Given the description of an element on the screen output the (x, y) to click on. 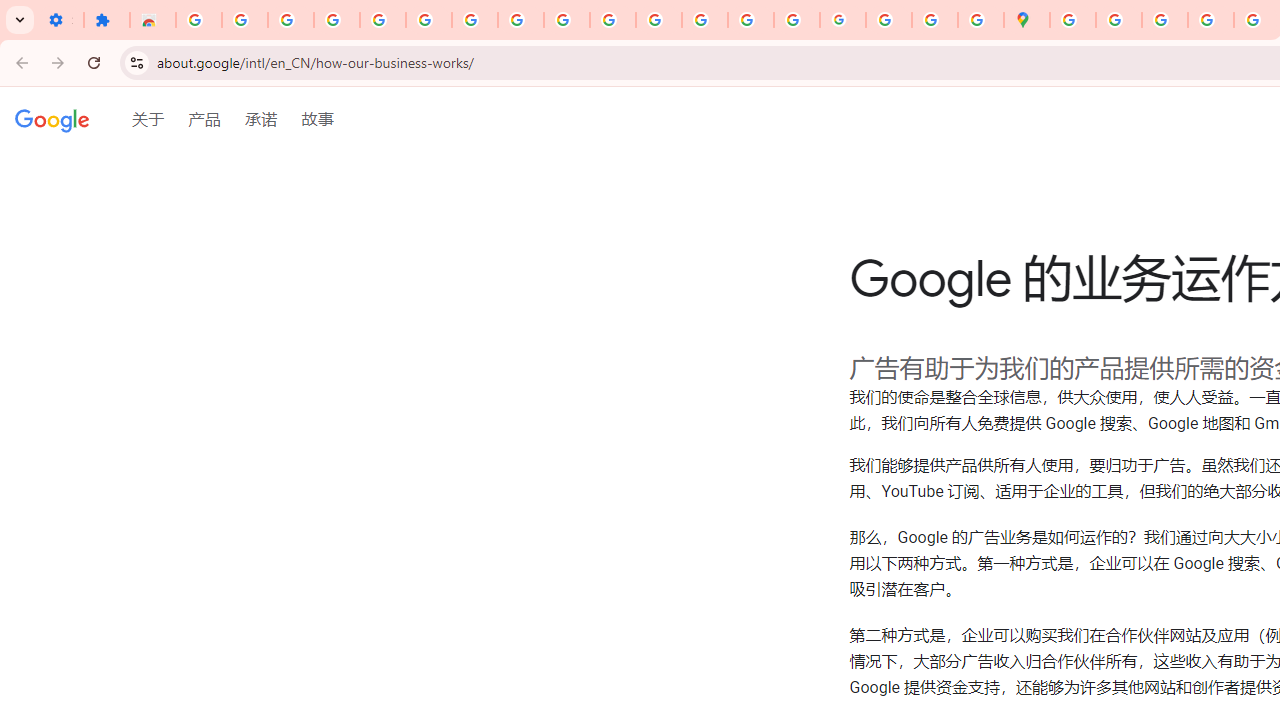
Create your Google Account (1164, 20)
Learn how to find your photos - Google Photos Help (336, 20)
